Given the description of an element on the screen output the (x, y) to click on. 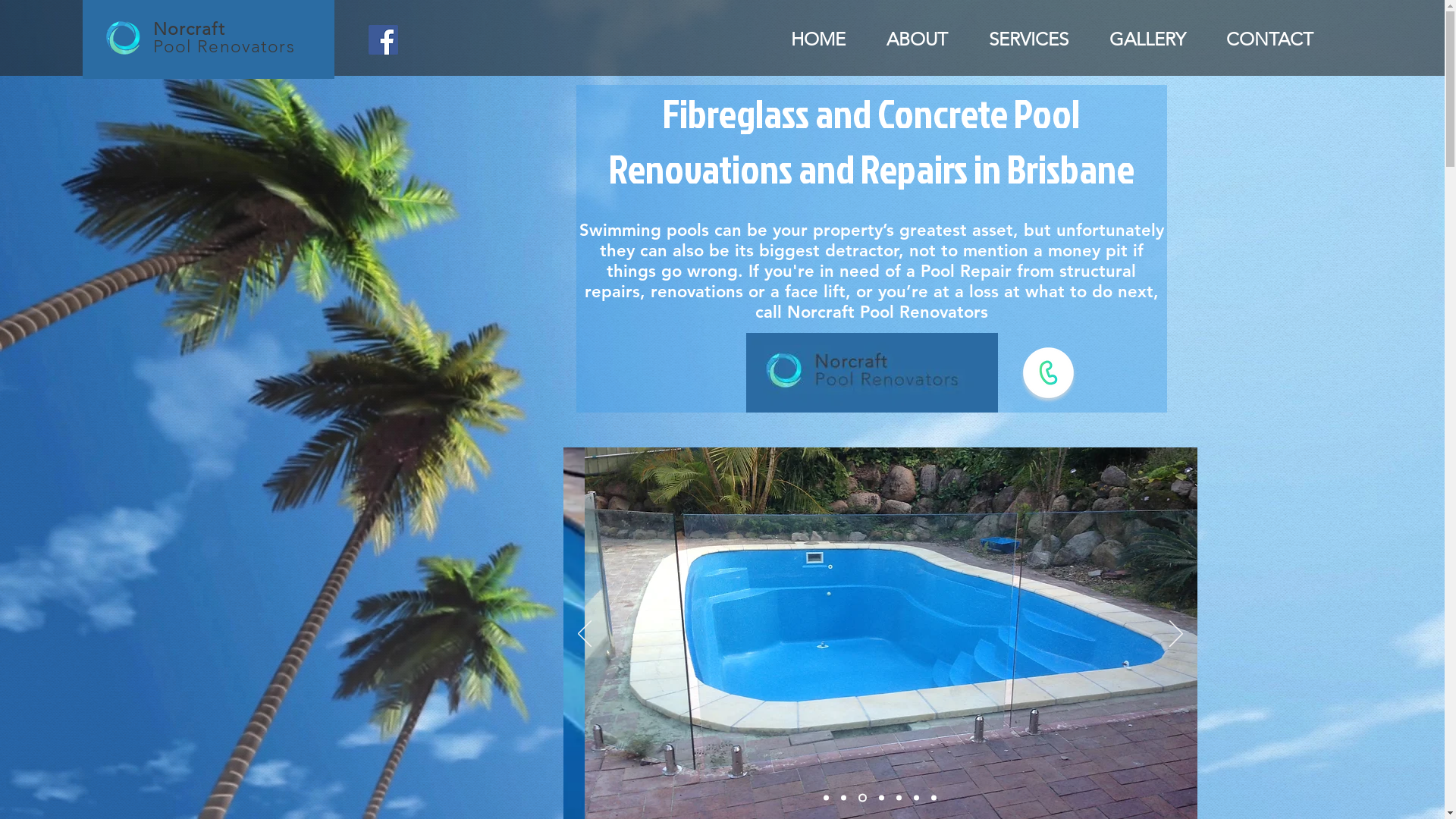
LOGO.png Element type: hover (122, 37)
GALLERY Element type: text (1147, 39)
SERVICES Element type: text (1027, 39)
ABOUT Element type: text (917, 39)
HOME Element type: text (818, 39)
CONTACT Element type: text (1269, 39)
